Given the description of an element on the screen output the (x, y) to click on. 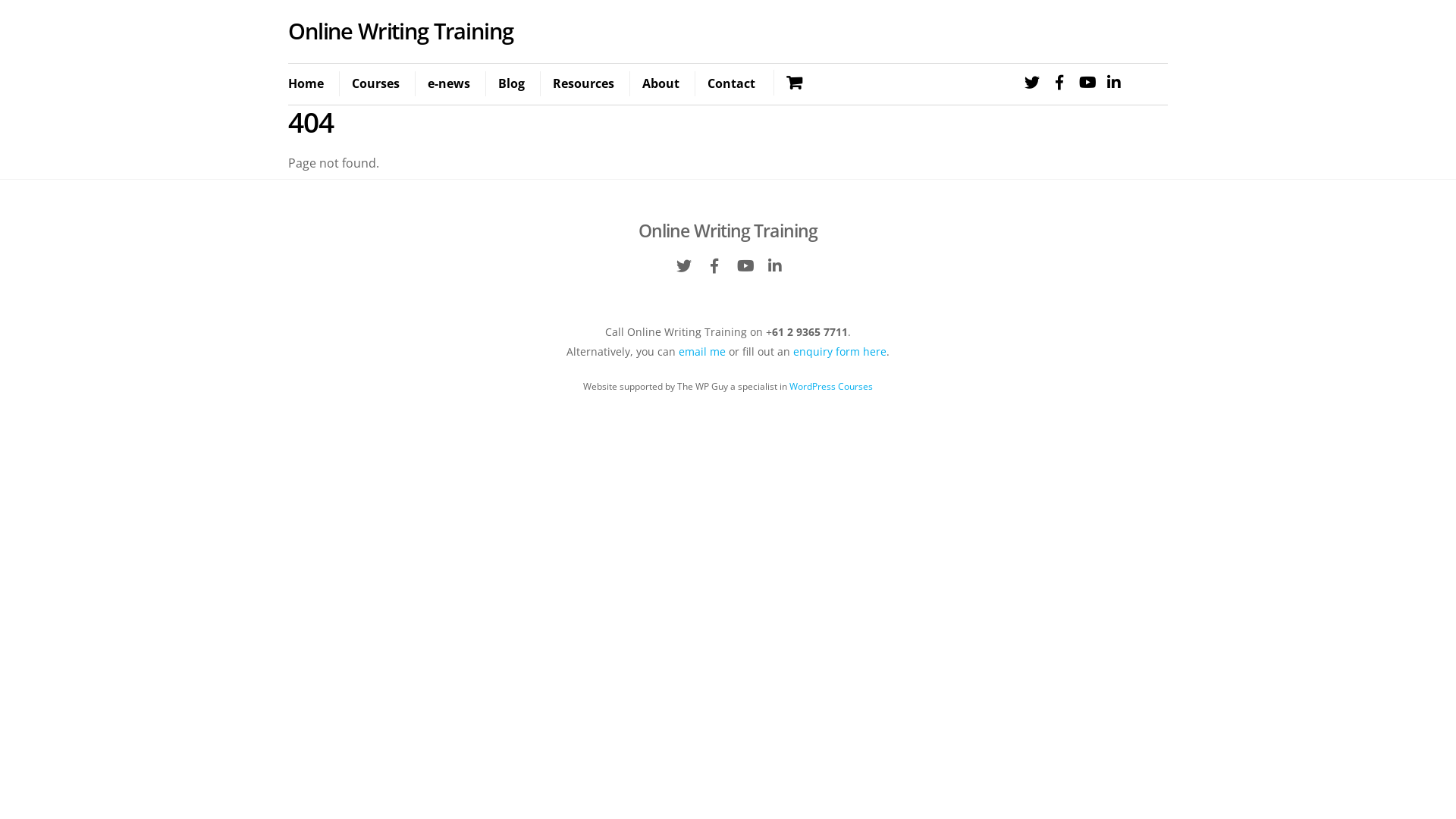
enquiry form here Element type: text (839, 351)
Online Writing Training Element type: text (400, 30)
email me Element type: text (701, 351)
Home Element type: text (311, 84)
Blog Element type: text (510, 84)
Courses Element type: text (374, 84)
e-news Element type: text (448, 84)
Online Writing Training Element type: text (727, 230)
Contact Element type: text (730, 84)
About Element type: text (660, 84)
Resources Element type: text (582, 84)
WordPress Courses Element type: text (830, 385)
